Given the description of an element on the screen output the (x, y) to click on. 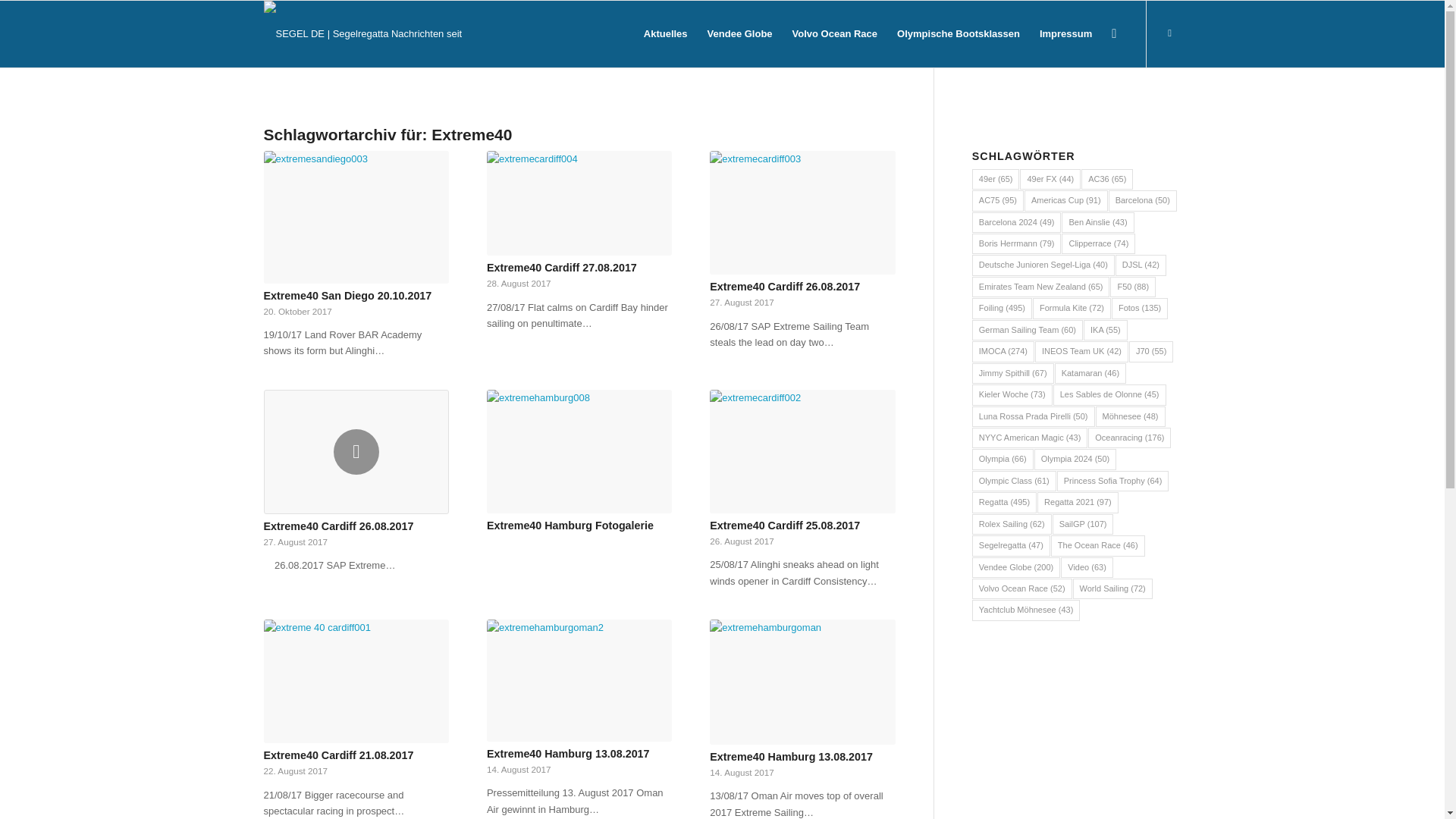
Extreme40 Hamburg Fotogalerie (569, 525)
Extreme40 Cardiff 26.08.2017 (785, 286)
Extreme40 Cardiff 25.08.2017 (802, 451)
Aktuelles (665, 33)
Olympische Bootsklassen (957, 33)
Extreme40 Cardiff 26.08.2017 (338, 526)
Extreme40 Cardiff 27.08.2017 (561, 267)
Volvo Ocean Race (834, 33)
Impressum (1065, 33)
Extreme40 Cardiff 26.08.2017 (785, 286)
